Given the description of an element on the screen output the (x, y) to click on. 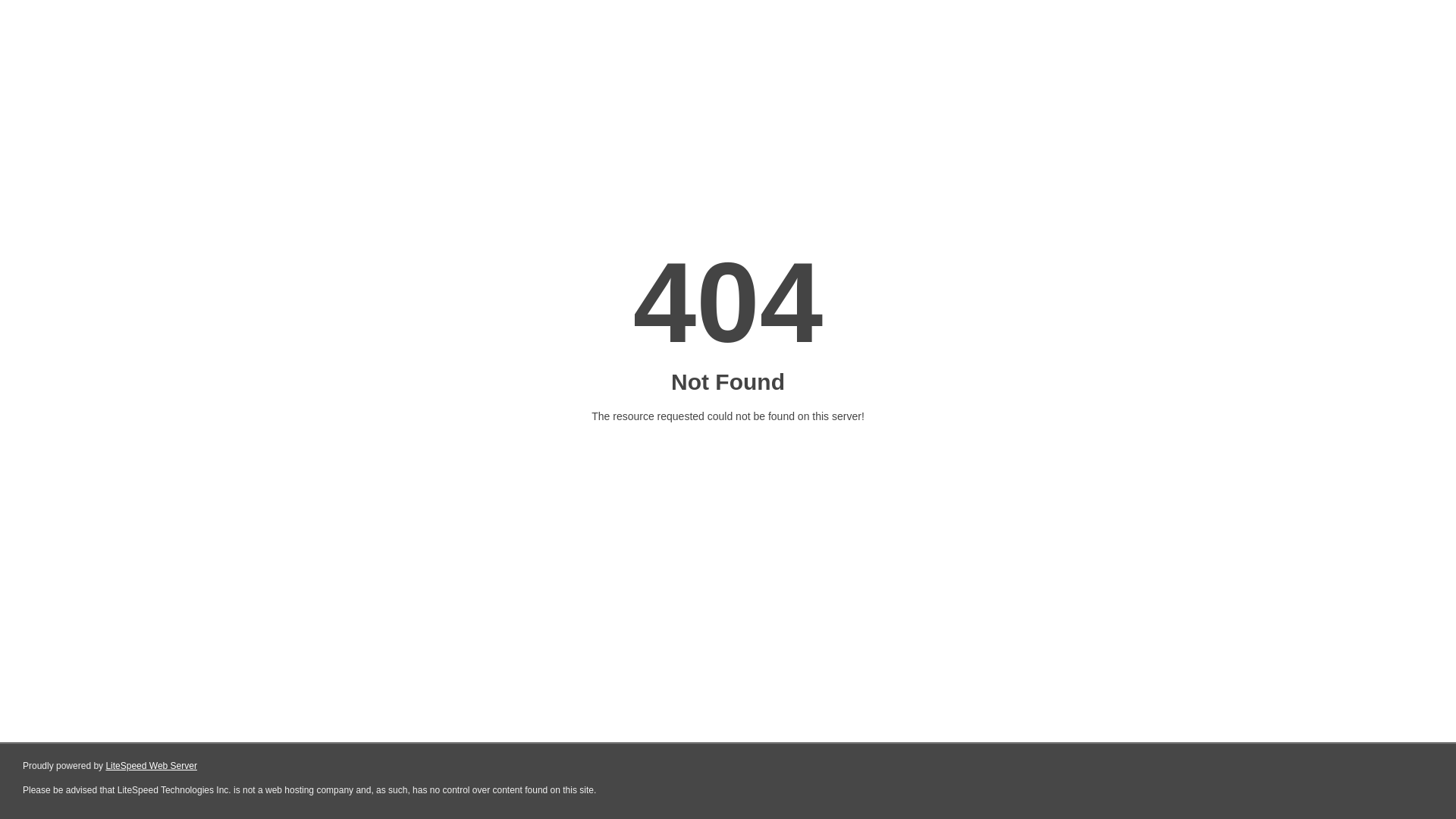
LiteSpeed Web Server Element type: text (151, 765)
